Given the description of an element on the screen output the (x, y) to click on. 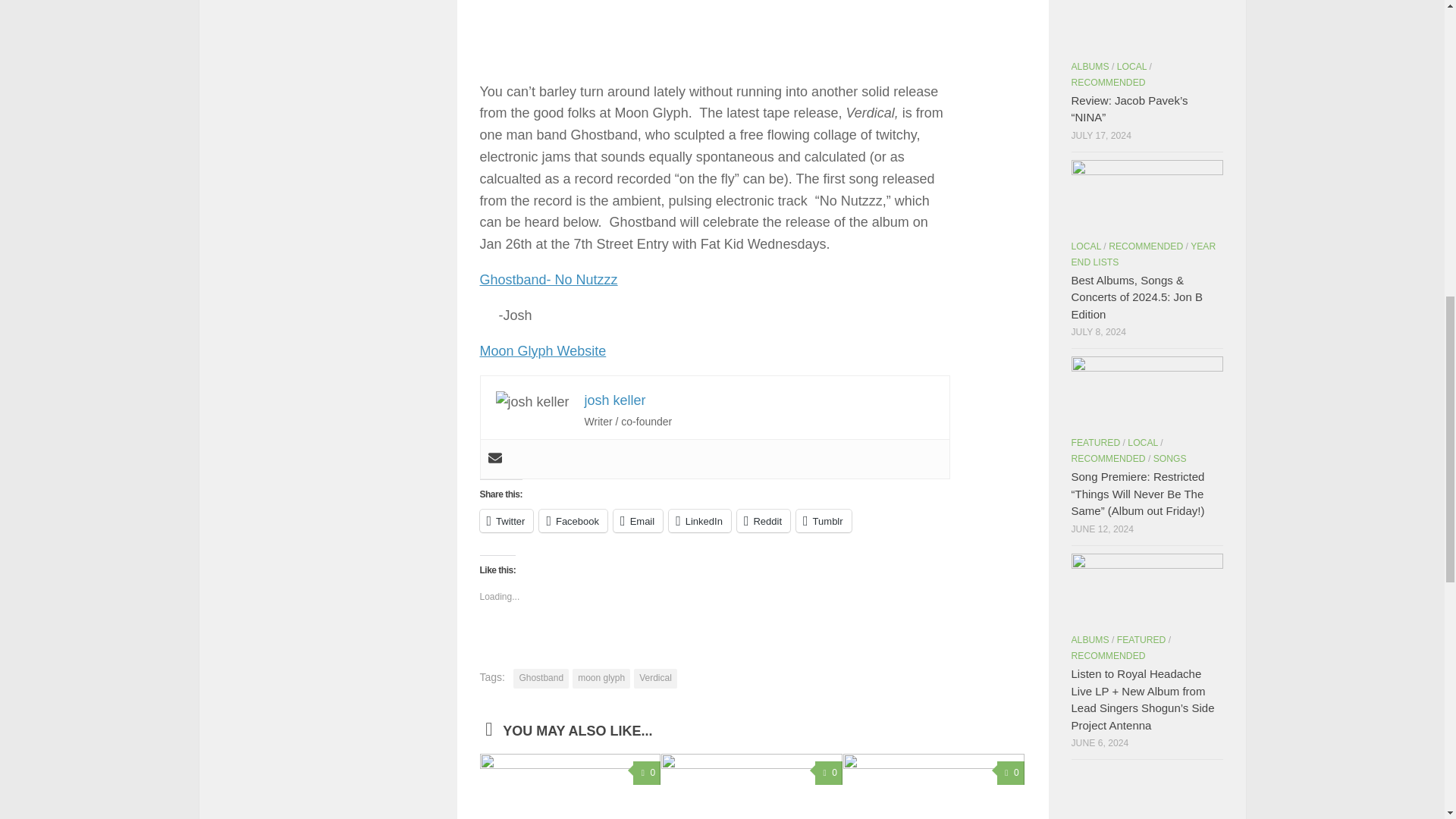
Click to email a link to a friend (637, 520)
josh keller (615, 400)
Moon Glyph Website (542, 350)
Facebook (572, 520)
Click to share on Reddit (763, 520)
Twitter (505, 520)
Click to share on LinkedIn (699, 520)
Click to share on Twitter (505, 520)
Ghostband- No Nutzzz (548, 279)
Click to share on Facebook (572, 520)
